Given the description of an element on the screen output the (x, y) to click on. 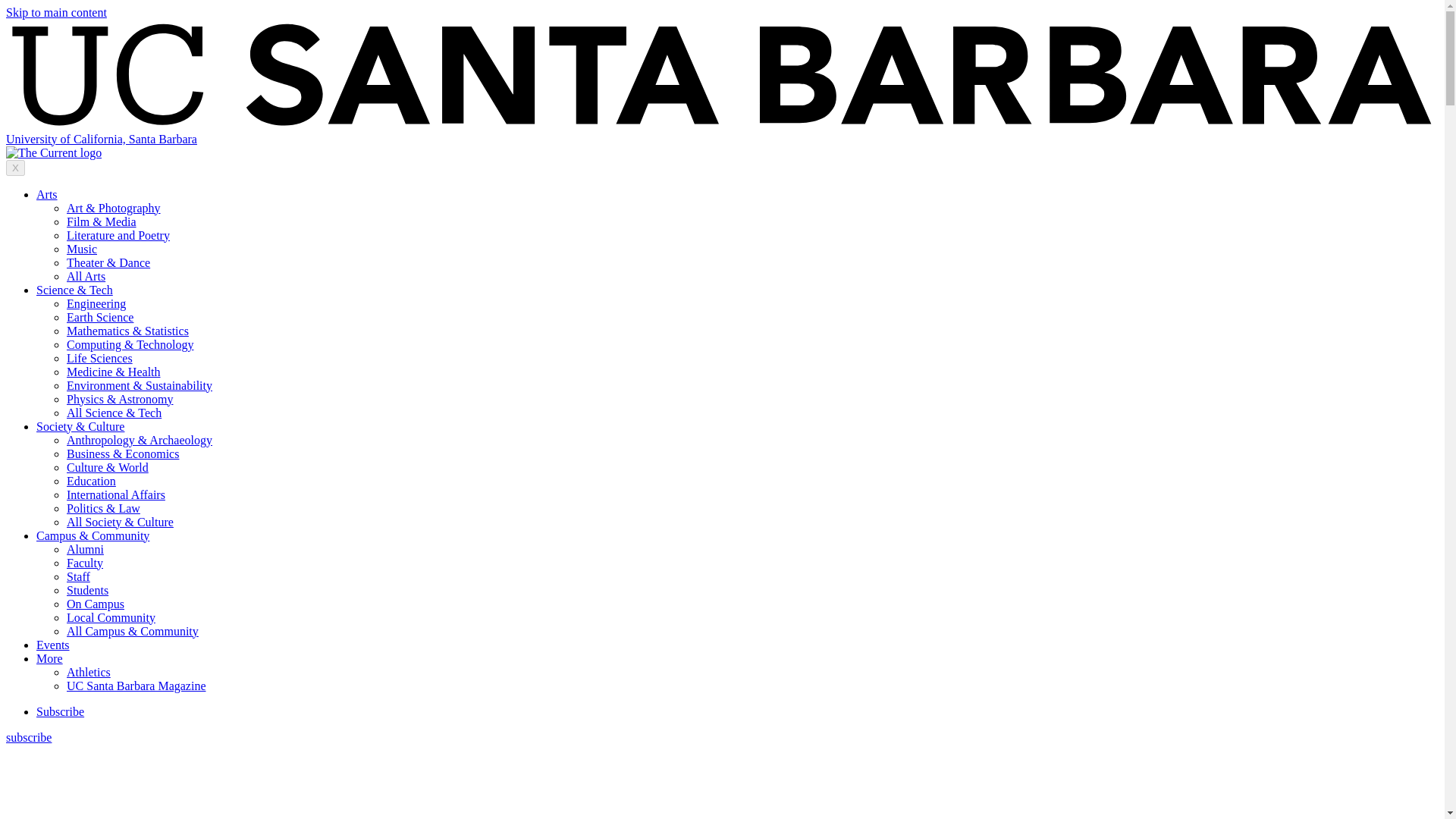
On Campus (94, 603)
Life Sciences (99, 358)
Earth Science (99, 317)
Education (91, 481)
Literature and Poetry (118, 235)
Students (86, 590)
Music (81, 248)
X (14, 167)
All Arts (85, 276)
Faculty (84, 562)
Events (52, 644)
Alumni (84, 549)
International Affairs (115, 494)
Arts (47, 194)
More (49, 658)
